Given the description of an element on the screen output the (x, y) to click on. 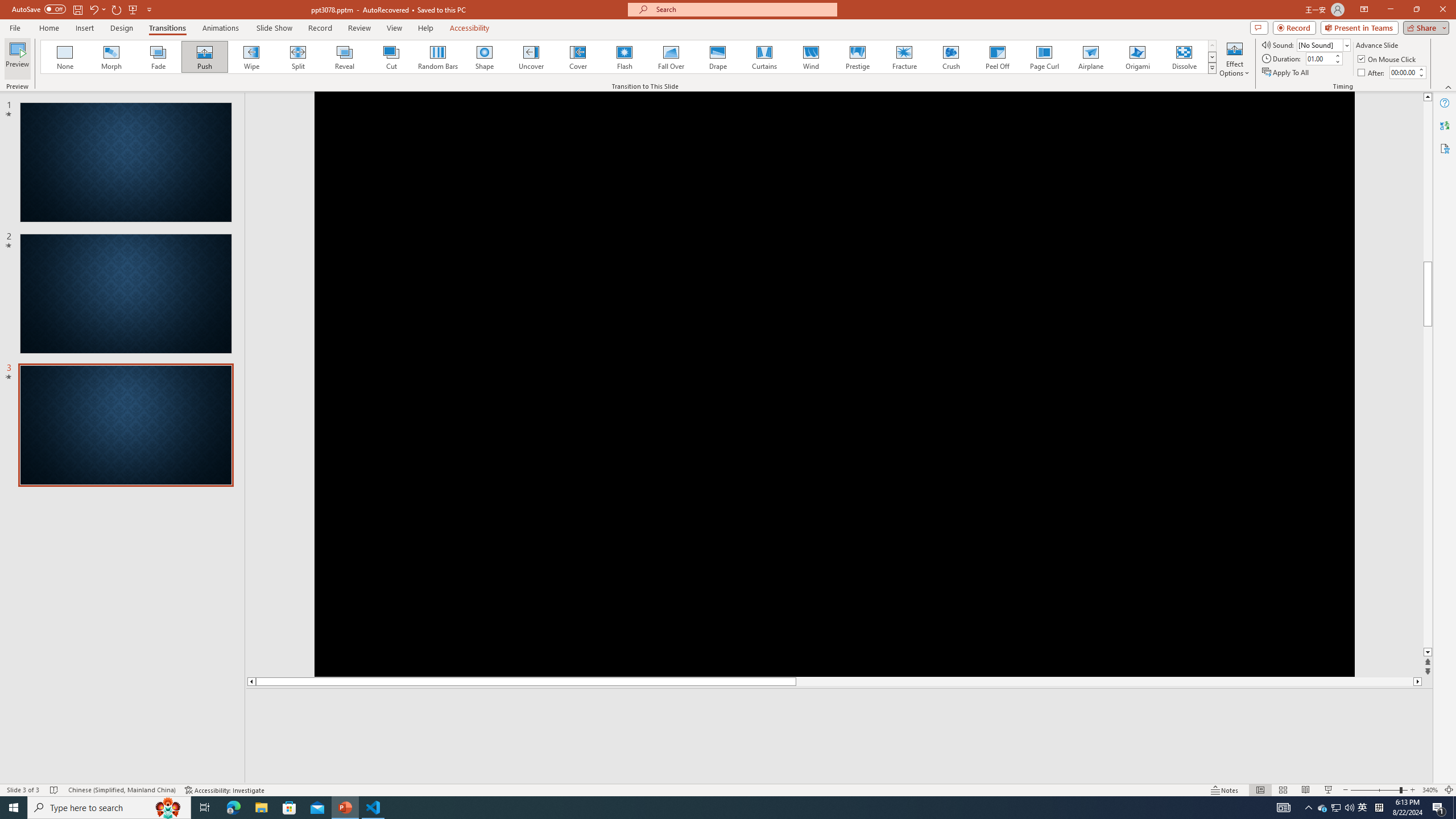
Fall Over (670, 56)
Fracture (903, 56)
AutomationID: AnimationTransitionGallery (628, 56)
Prestige (857, 56)
Duration (1319, 58)
Crush (950, 56)
